Given the description of an element on the screen output the (x, y) to click on. 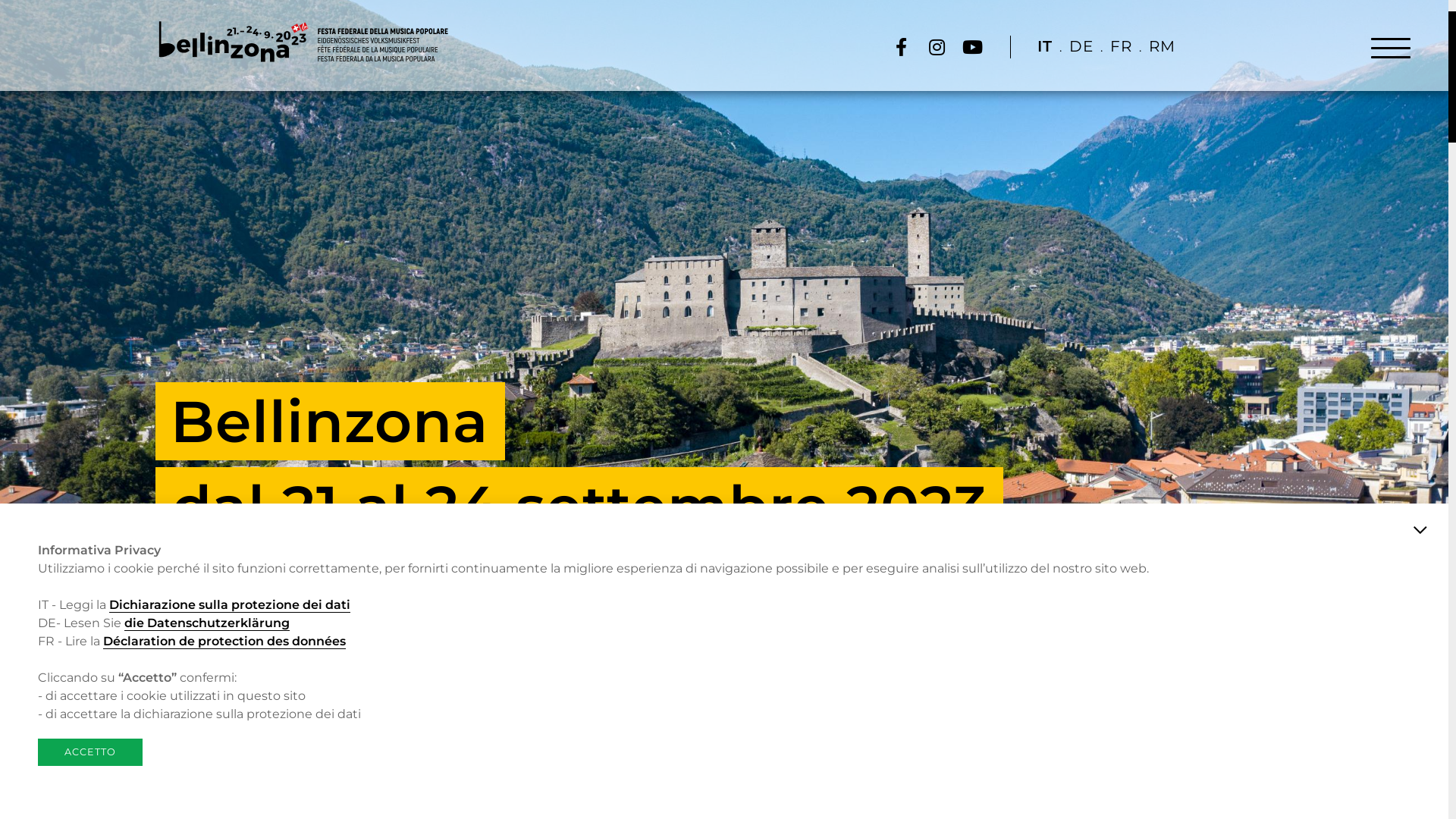
DE Element type: text (1081, 46)
Dichiarazione sulla protezione dei dati Element type: text (229, 604)
FR Element type: text (1121, 46)
Bellinzona 2023 Element type: hover (302, 41)
IT Element type: text (1044, 46)
RM Element type: text (1161, 46)
